Given the description of an element on the screen output the (x, y) to click on. 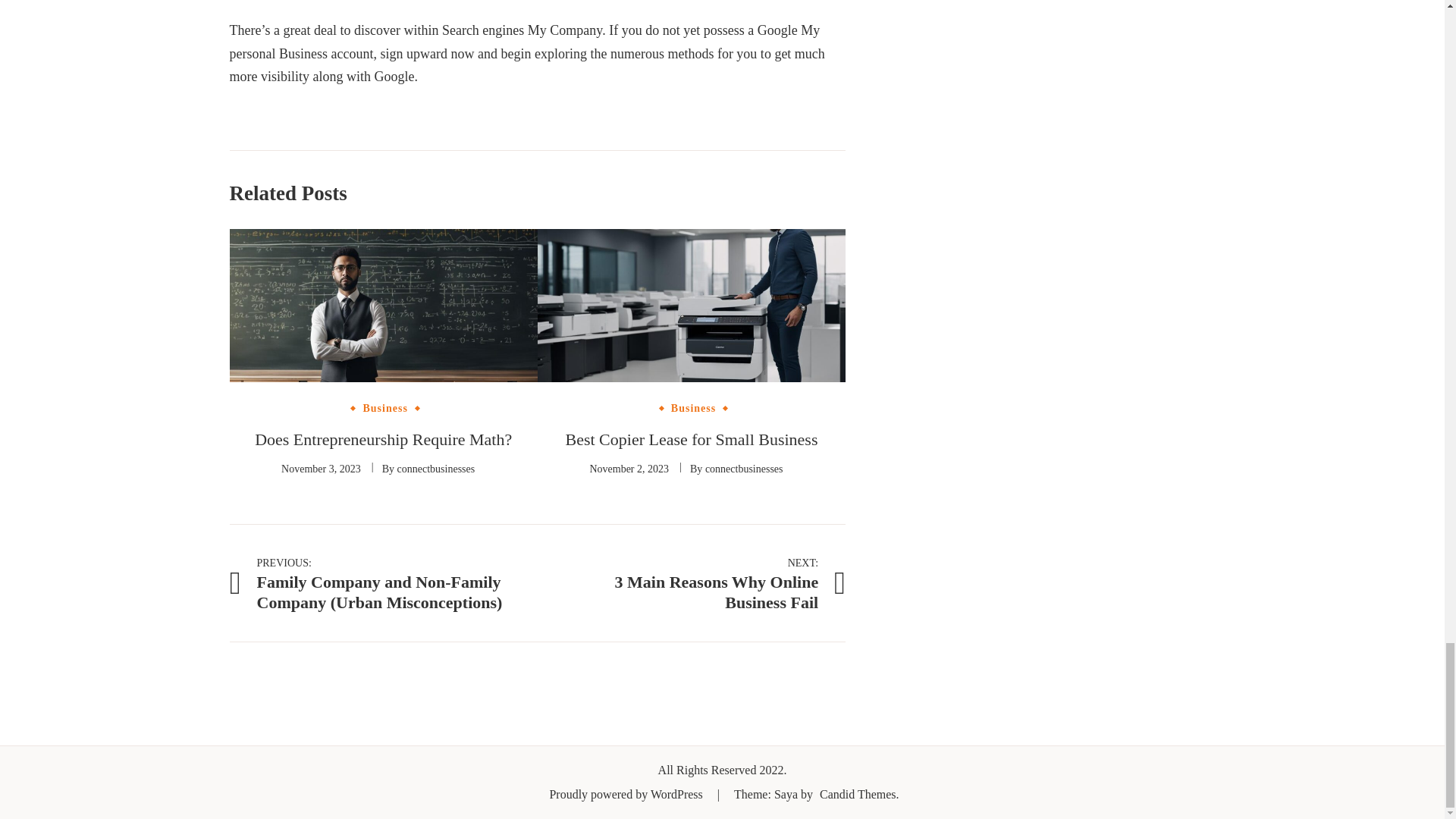
Best Copier Lease for Small Business (690, 438)
connectbusinesses (743, 469)
connectbusinesses (436, 469)
Business (384, 408)
Business (692, 408)
Does Entrepreneurship Require Math? (383, 438)
November 2, 2023 (628, 469)
Proudly powered by WordPress (626, 793)
Candid Themes (691, 582)
November 3, 2023 (857, 793)
